Given the description of an element on the screen output the (x, y) to click on. 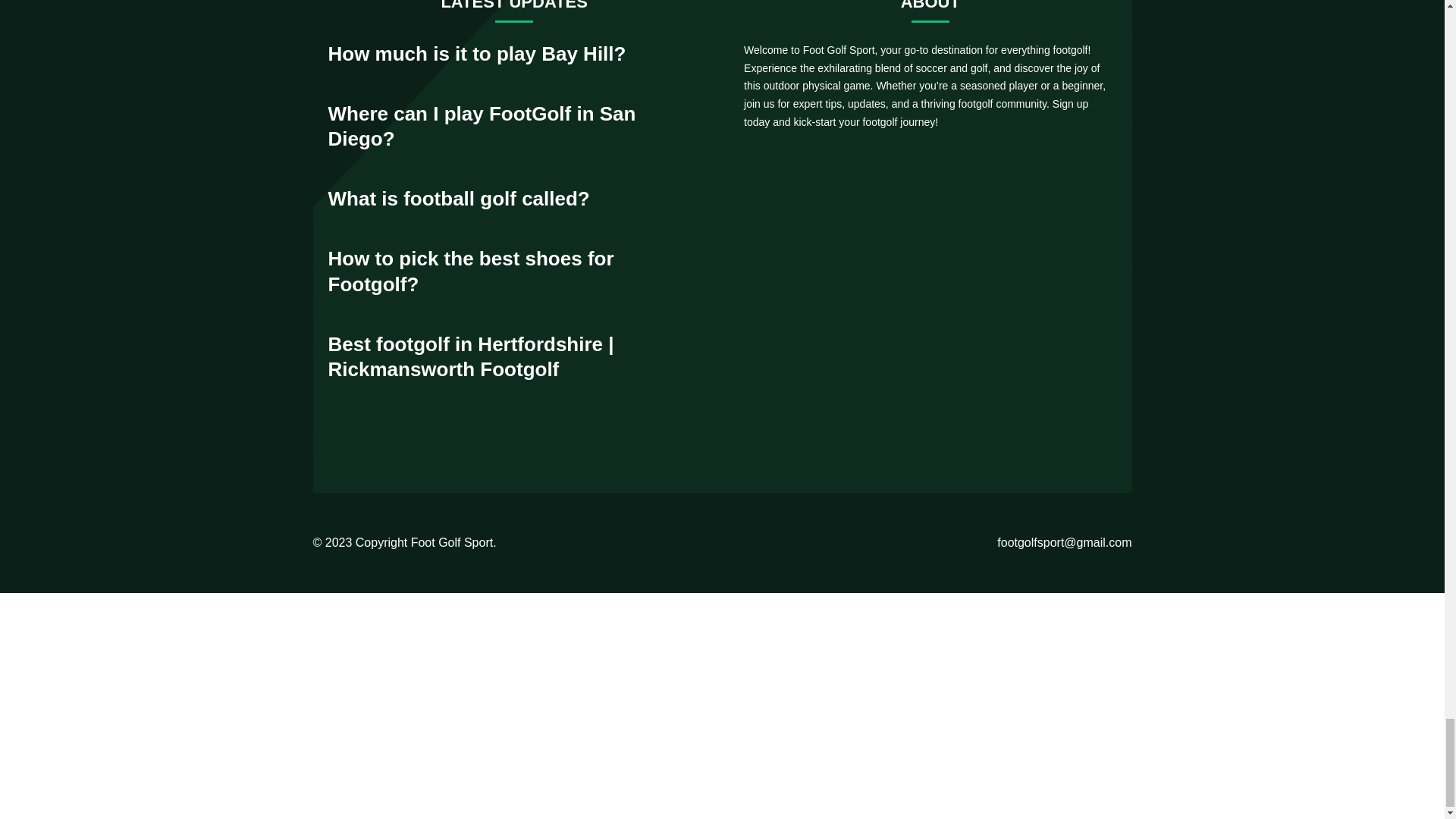
What is football golf called? (458, 198)
Where can I play FootGolf in San Diego? (480, 126)
How much is it to play Bay Hill? (476, 53)
